Given the description of an element on the screen output the (x, y) to click on. 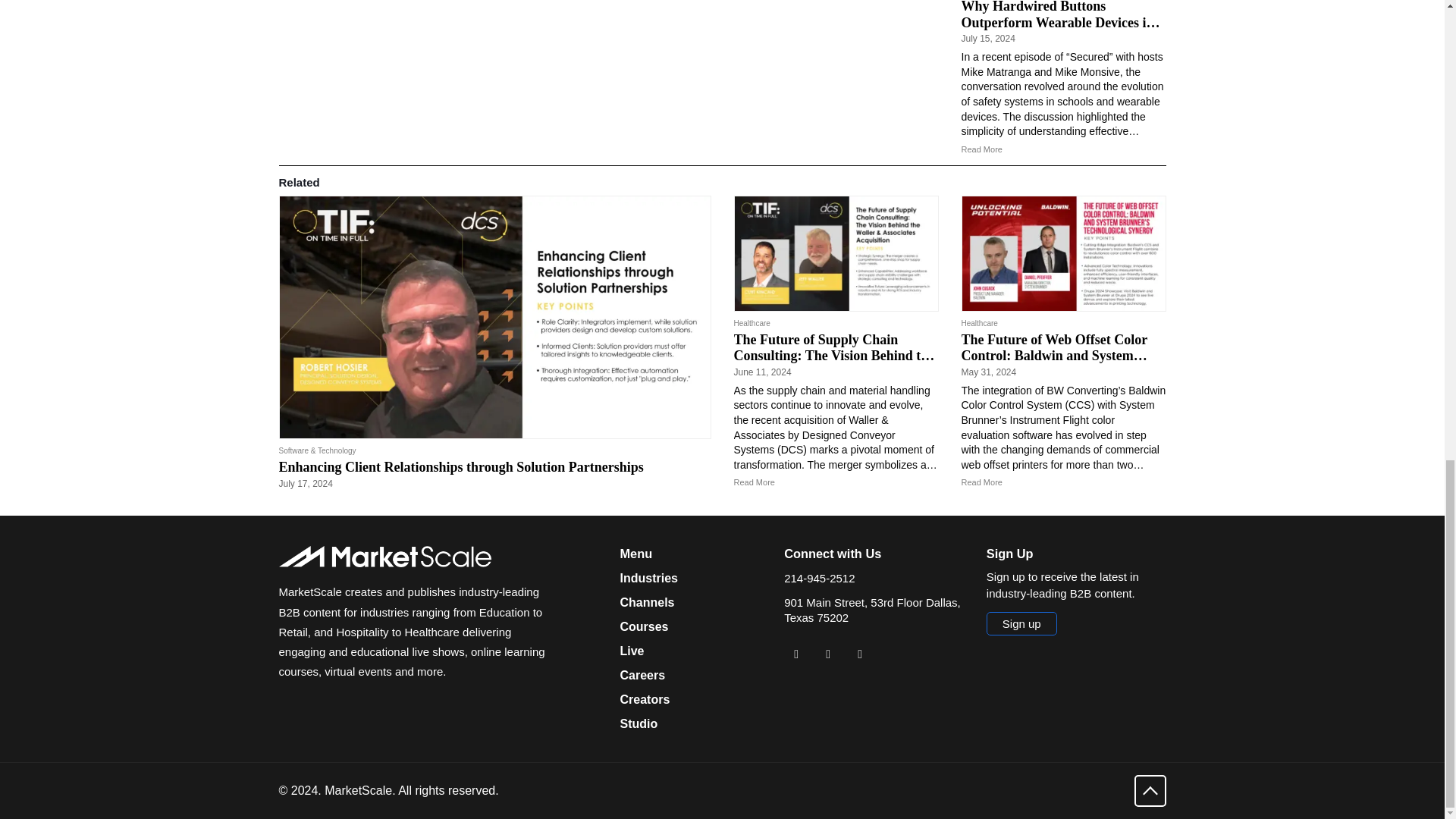
Share on Linkedin (796, 654)
Share on Instagram (859, 654)
Share on X (827, 654)
